Given the description of an element on the screen output the (x, y) to click on. 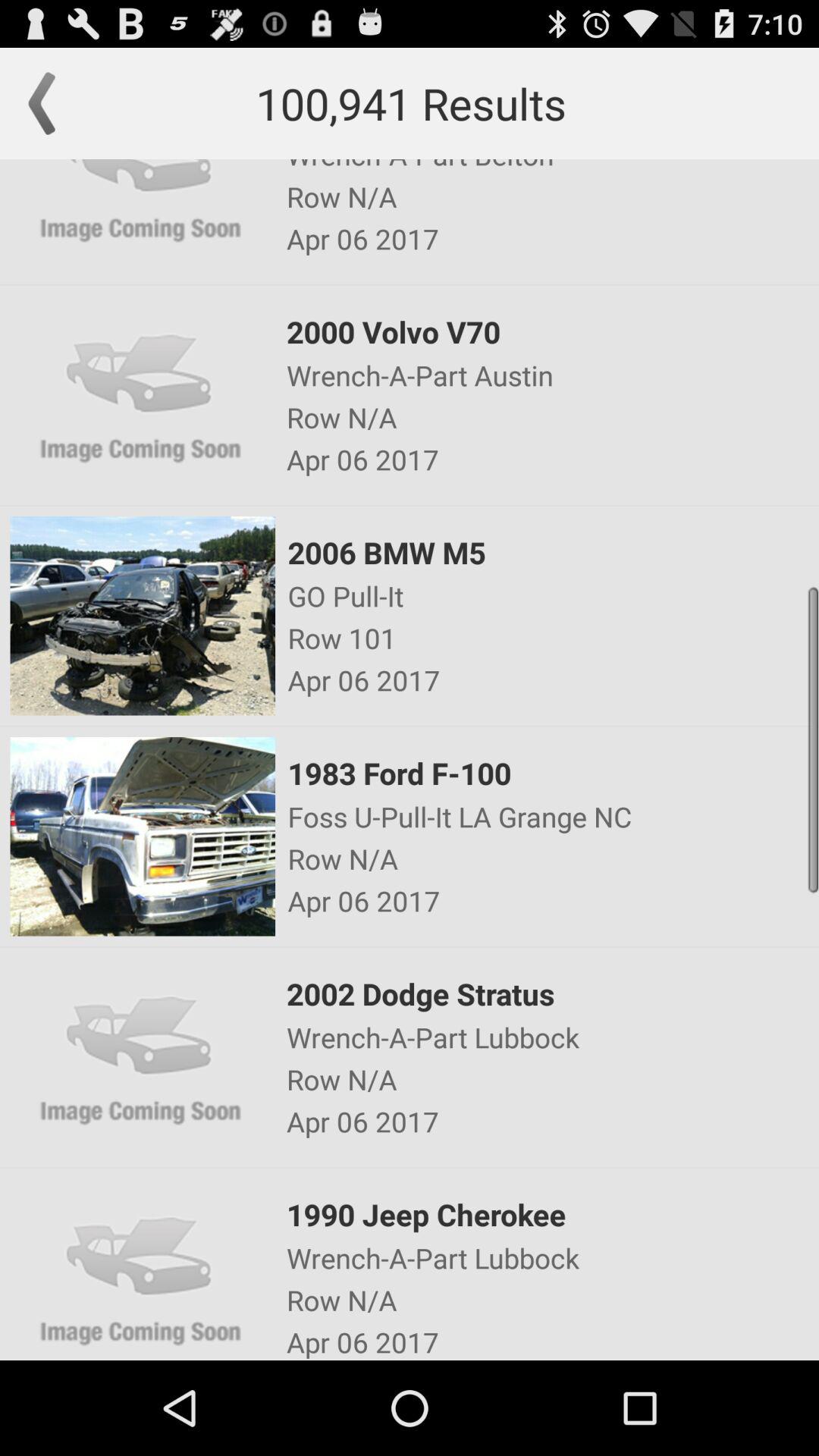
scroll until the row 101 (551, 637)
